Given the description of an element on the screen output the (x, y) to click on. 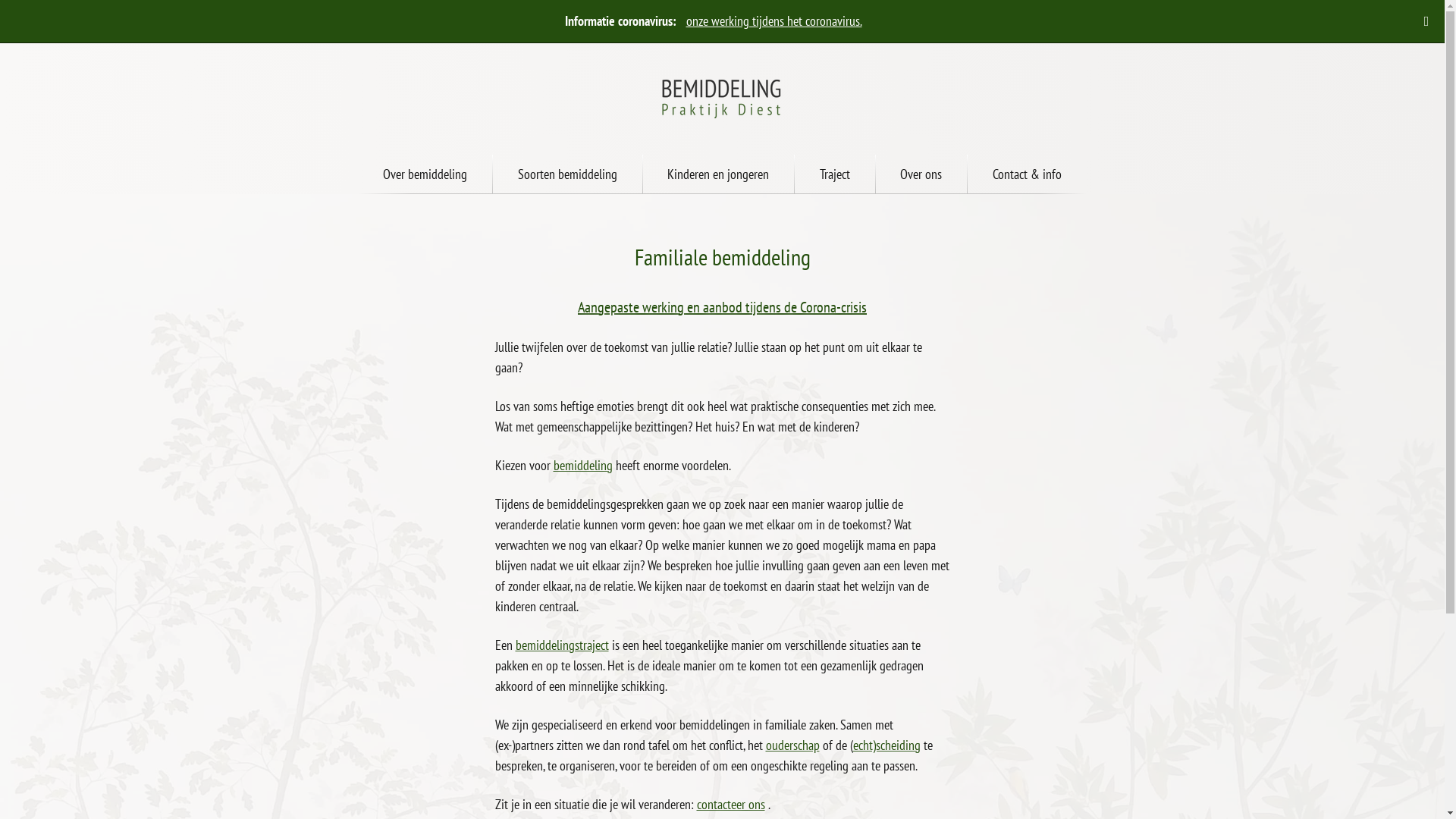
Kinderen en jongeren Element type: text (718, 173)
echt)scheiding Element type: text (885, 744)
bemiddeling Element type: text (582, 464)
ouderschap Element type: text (792, 744)
Over ons Element type: text (920, 173)
Traject Element type: text (834, 173)
bemiddelingstraject Element type: text (561, 643)
Contact & info Element type: text (1026, 173)
Aangepaste werking en aanbod tijdens de Corona-crisis Element type: text (721, 306)
Sluit Element type: text (1426, 21)
Soorten bemiddeling Element type: text (567, 173)
onze werking tijdens het coronavirus. Element type: text (773, 20)
contacteer ons Element type: text (730, 803)
Over bemiddeling Element type: text (424, 173)
